Given the description of an element on the screen output the (x, y) to click on. 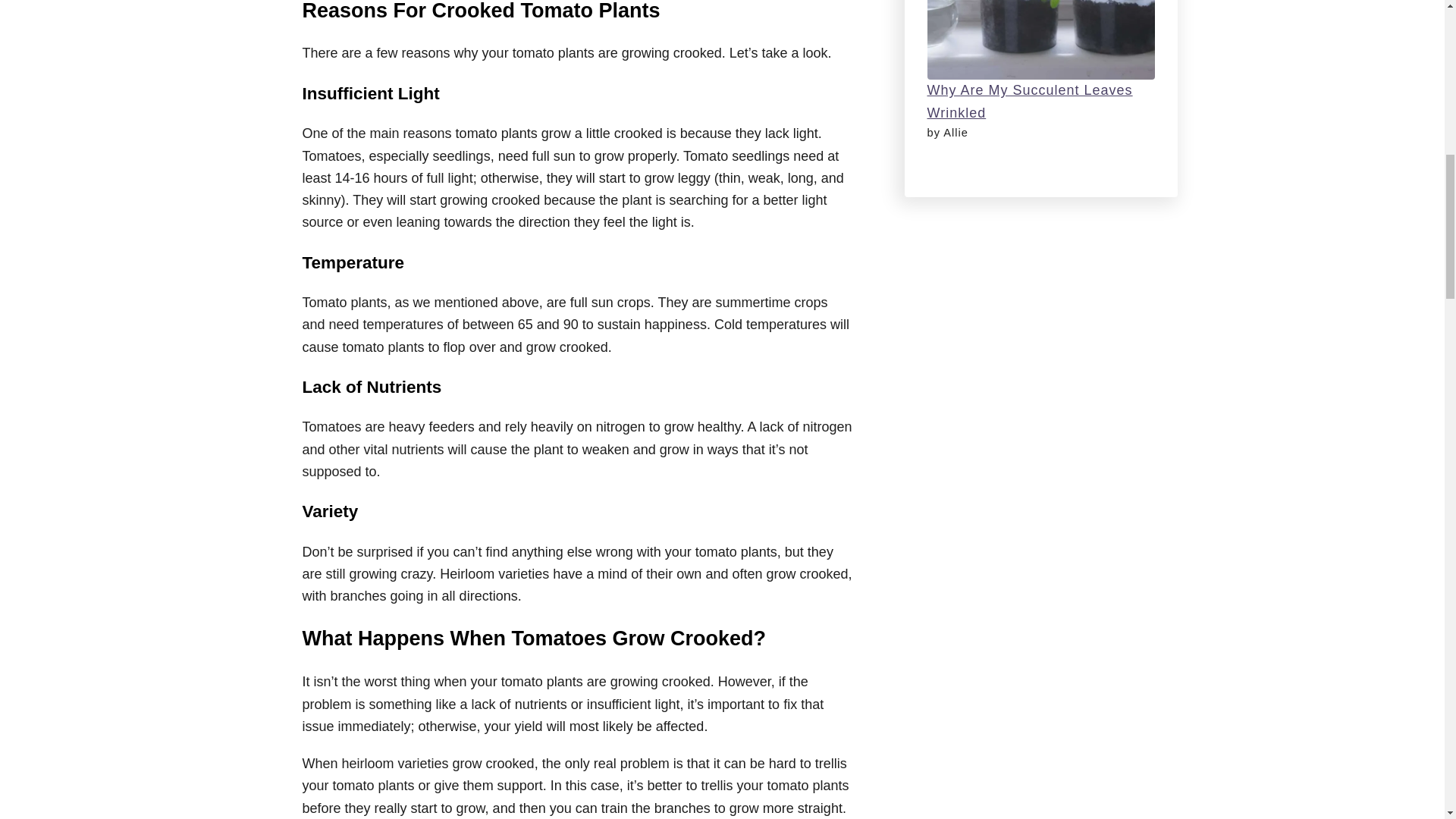
Why Are My Succulent Leaves Wrinkled (1029, 100)
